Given the description of an element on the screen output the (x, y) to click on. 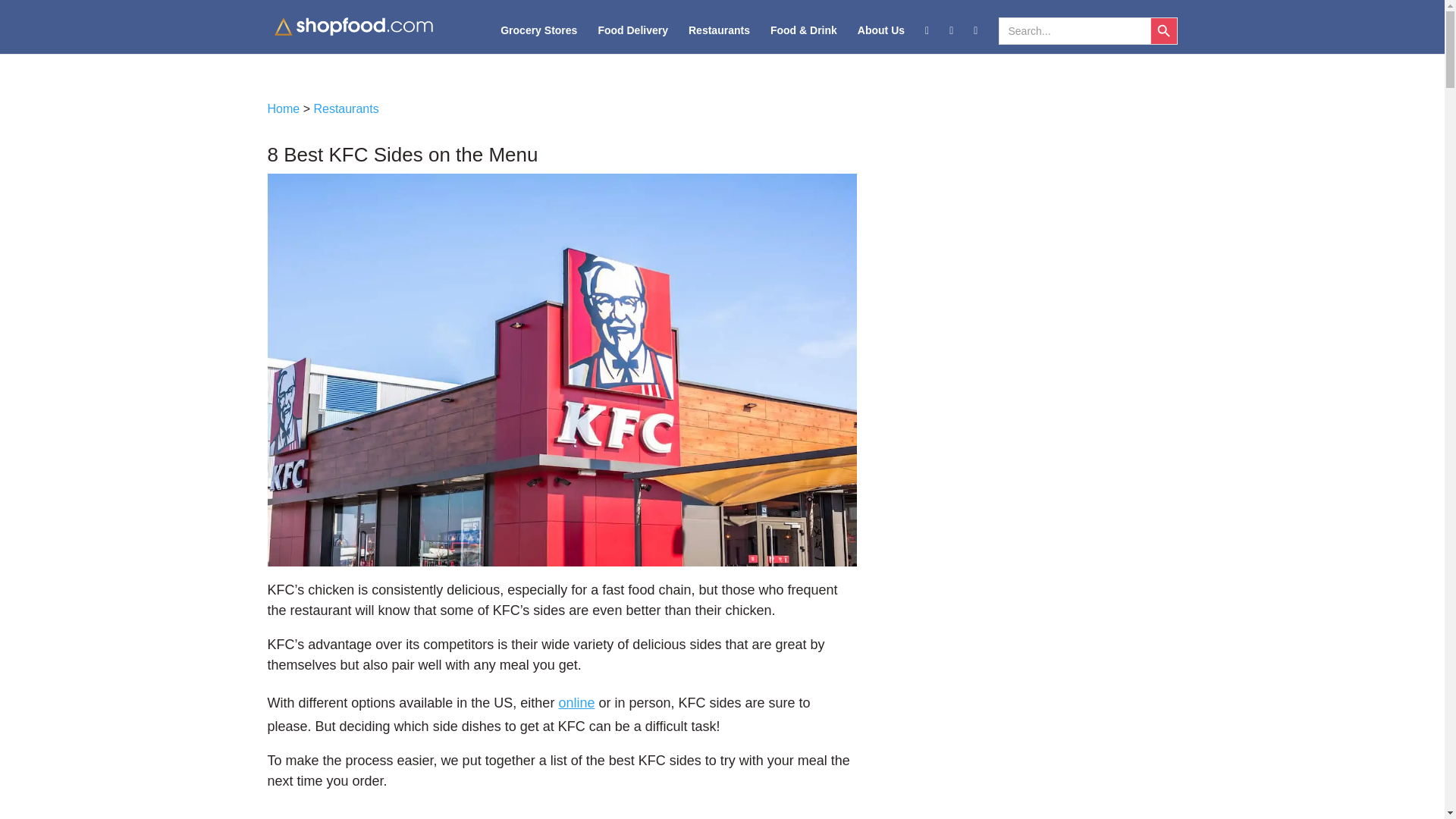
About Us (880, 39)
Home (282, 108)
Restaurants (718, 39)
Search Button (1163, 31)
online (575, 702)
Food Delivery (632, 39)
Grocery Stores (538, 39)
Restaurants (345, 108)
